Given the description of an element on the screen output the (x, y) to click on. 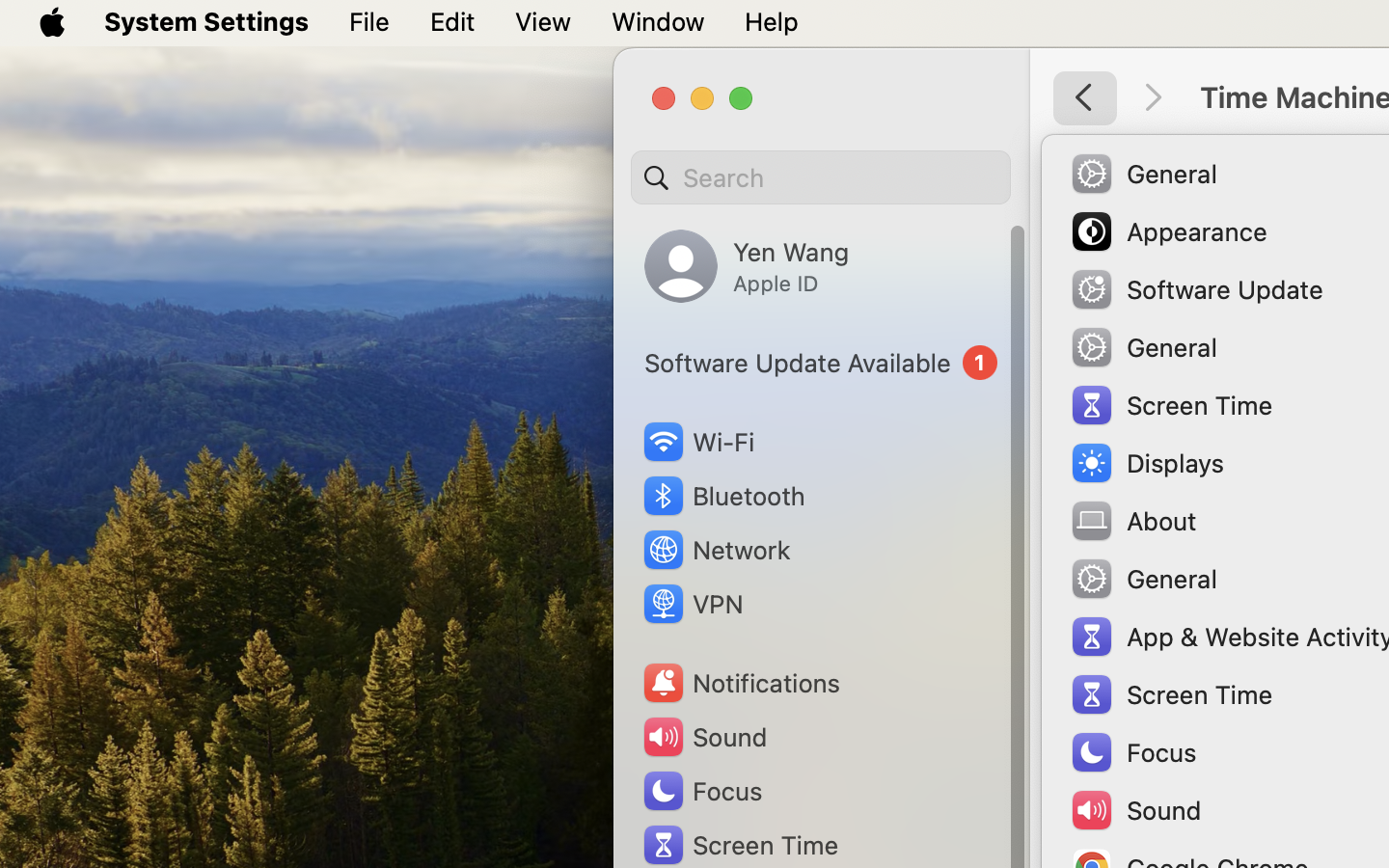
Focus Element type: AXStaticText (701, 790)
Network Element type: AXStaticText (715, 549)
Time Machine Element type: AXStaticText (1250, 182)
VPN Element type: AXStaticText (691, 603)
Yen Wang, Apple ID Element type: AXStaticText (746, 265)
